Given the description of an element on the screen output the (x, y) to click on. 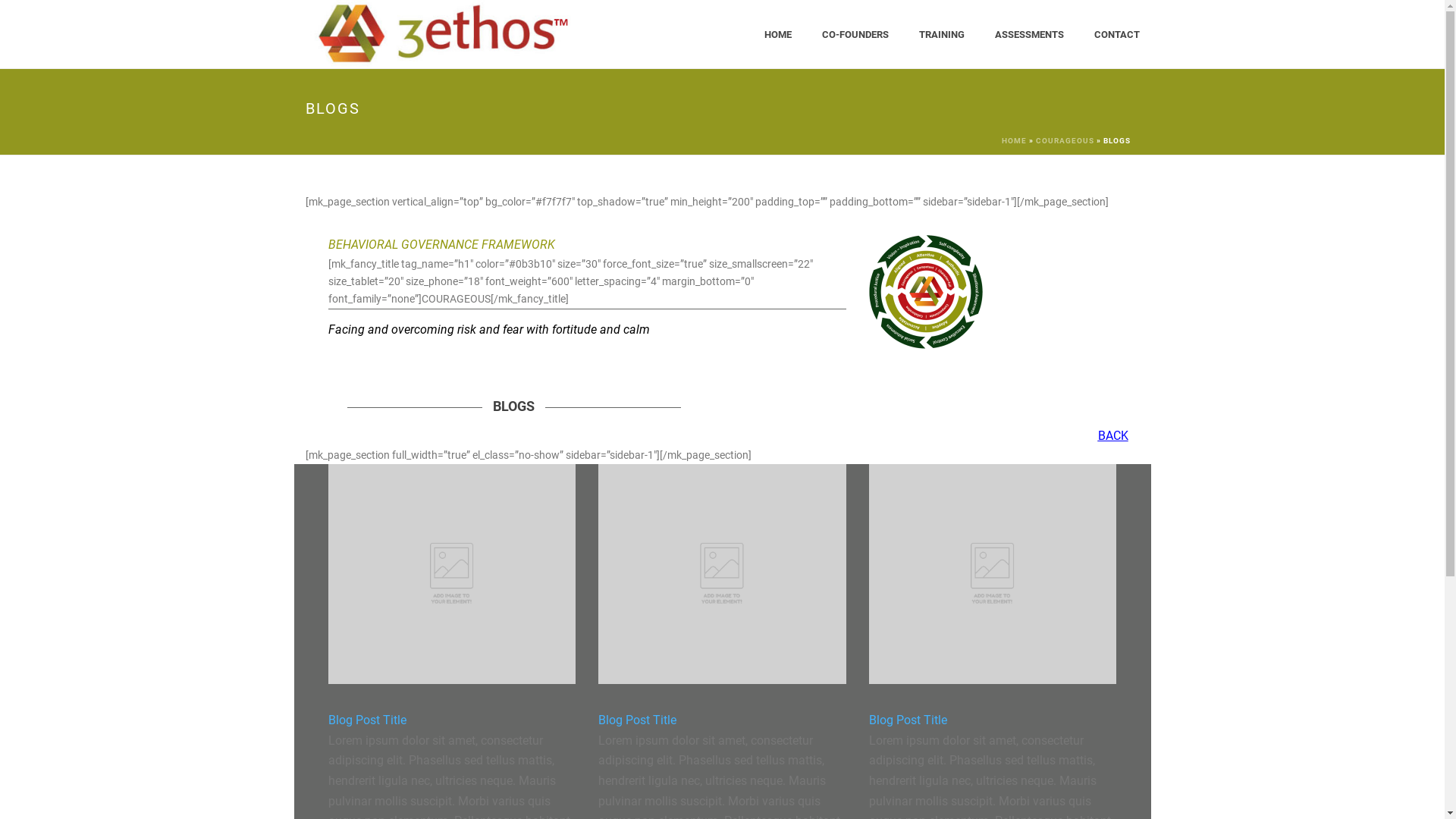
Blog Post Title Element type: text (637, 719)
CO-FOUNDERS Element type: text (854, 34)
Blog Post Title Element type: text (908, 719)
ASSESSMENTS Element type: text (1029, 34)
CONTACT Element type: text (1116, 34)
COURAGEOUS Element type: text (1064, 140)
Blog Post Title Element type: text (366, 719)
HOME Element type: text (1013, 140)
HOME Element type: text (777, 34)
TRAINING Element type: text (941, 34)
main-model Element type: hover (925, 291)
BACK Element type: text (1113, 435)
